Given the description of an element on the screen output the (x, y) to click on. 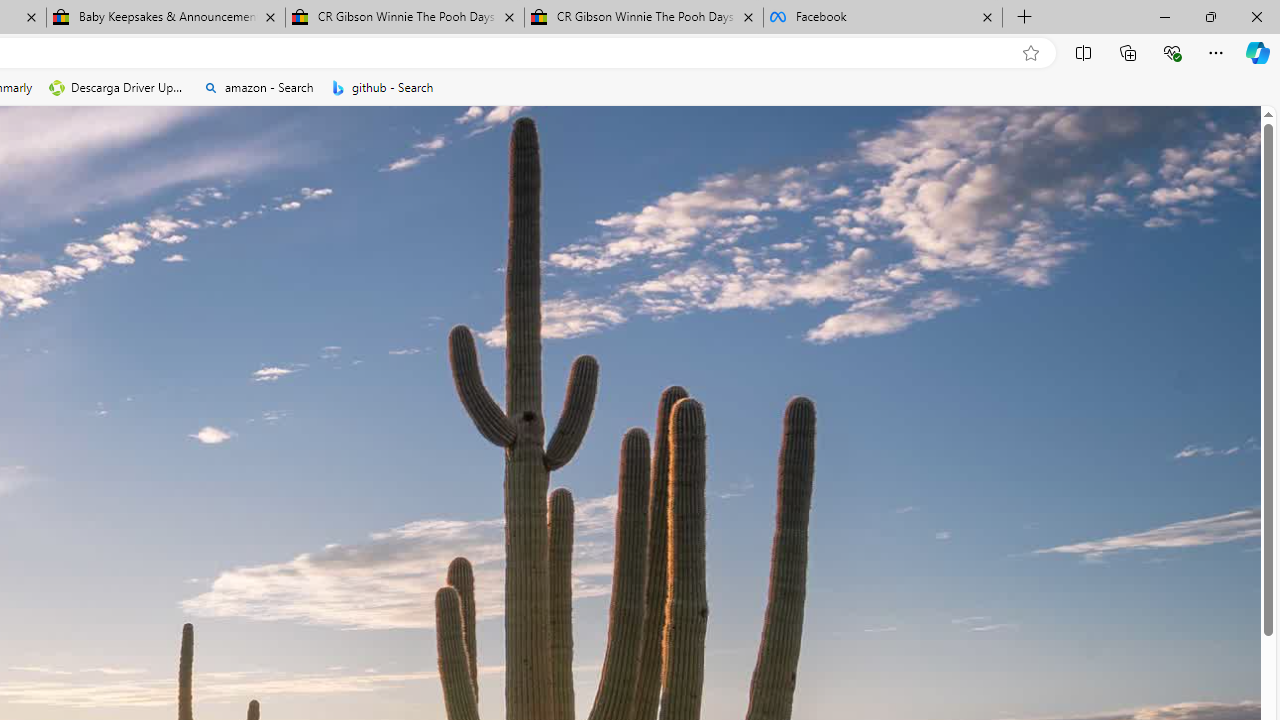
You're following The Weather Channel (92, 573)
Hotels in Bangkok (563, 631)
Class: weather-current-precipitation-glyph (715, 543)
